Given the description of an element on the screen output the (x, y) to click on. 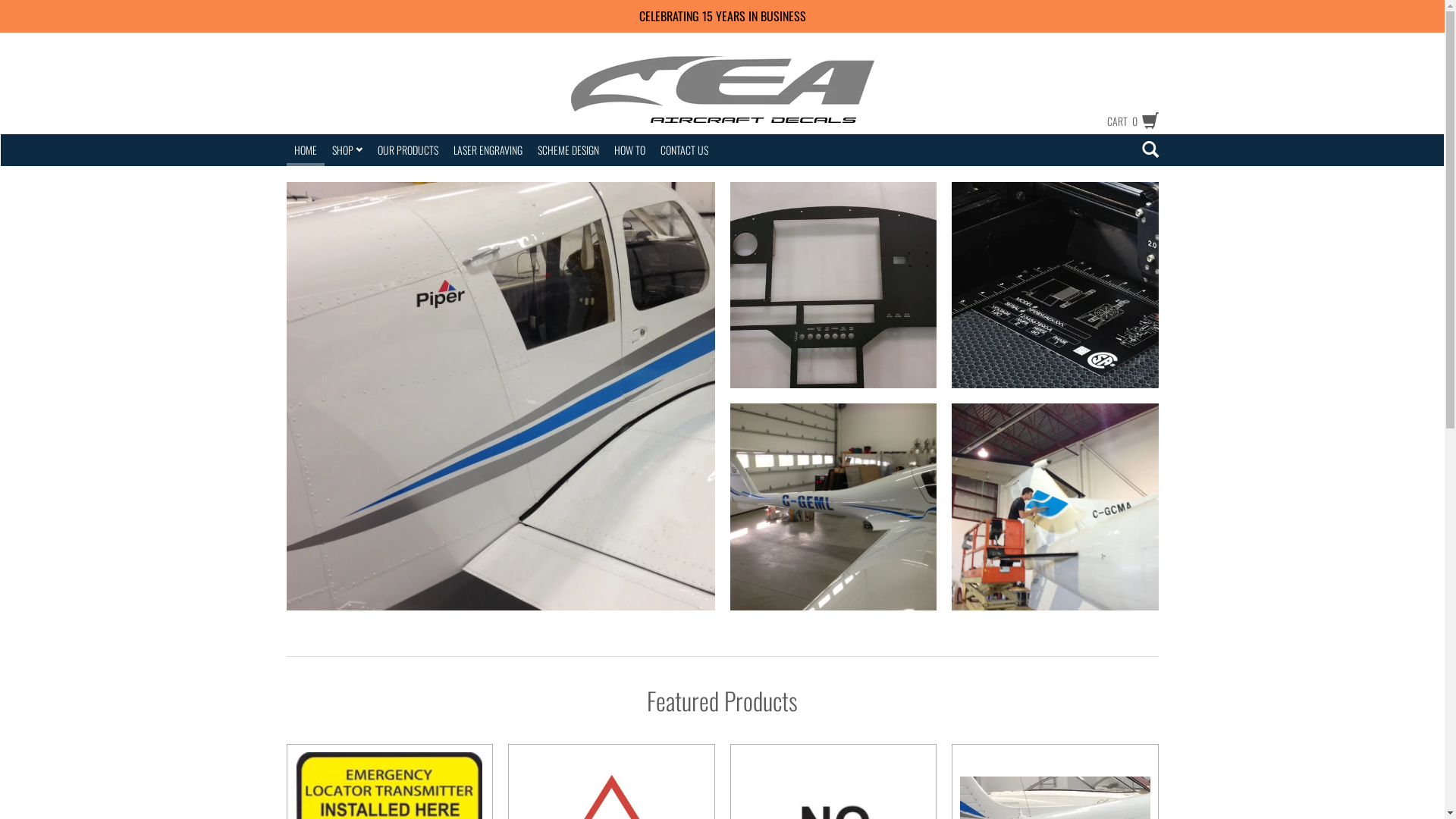
CART  0   Element type: text (1125, 120)
OUR PRODUCTS Element type: text (407, 150)
SHOP Element type: text (347, 150)
LASER ENGRAVING Element type: text (487, 150)
HOME Element type: text (305, 148)
HOW TO Element type: text (629, 150)
CONTACT US Element type: text (683, 150)
SCHEME DESIGN Element type: text (567, 150)
